Given the description of an element on the screen output the (x, y) to click on. 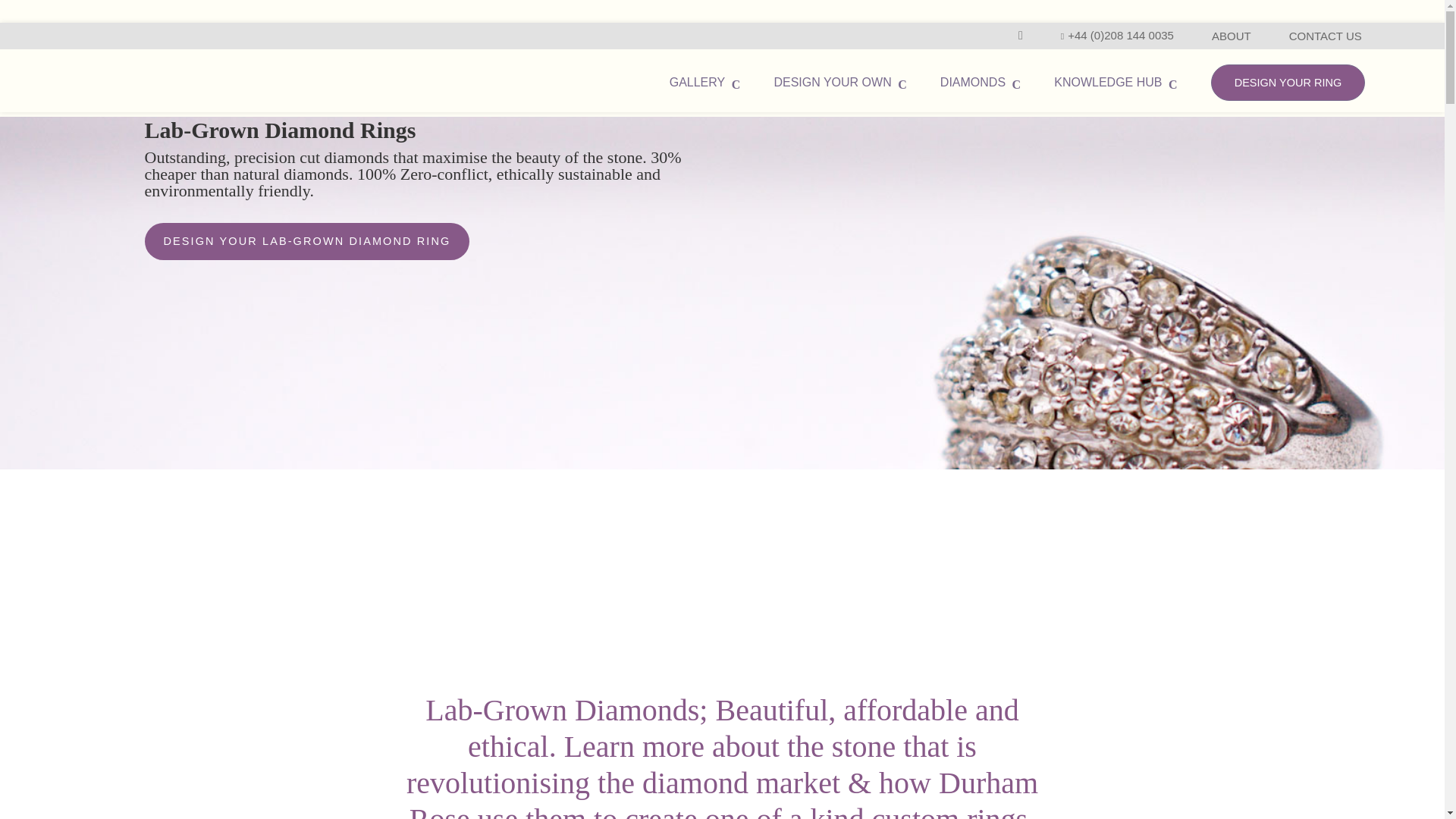
CONTACT US (1324, 35)
GALLERY (705, 82)
ABOUT (1230, 35)
